Given the description of an element on the screen output the (x, y) to click on. 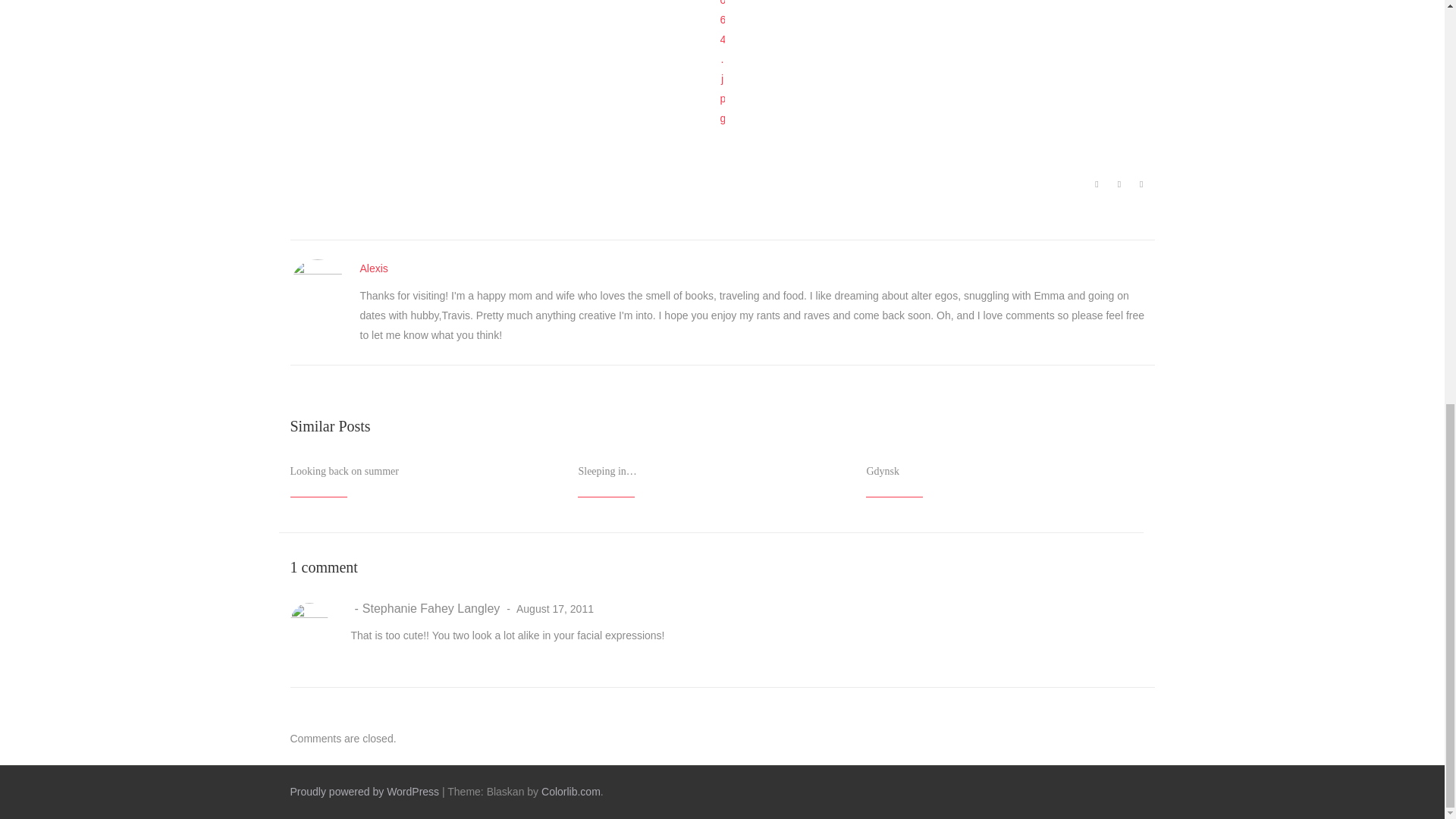
August 17, 2011 (548, 608)
Colorlib.com (570, 791)
Looking back on summer (343, 471)
Stephanie Fahey Langley (424, 607)
Gdynsk (882, 471)
emma's photography (721, 63)
Alexis (373, 268)
Proudly powered by WordPress (364, 791)
Posts by Alexis (373, 268)
